Given the description of an element on the screen output the (x, y) to click on. 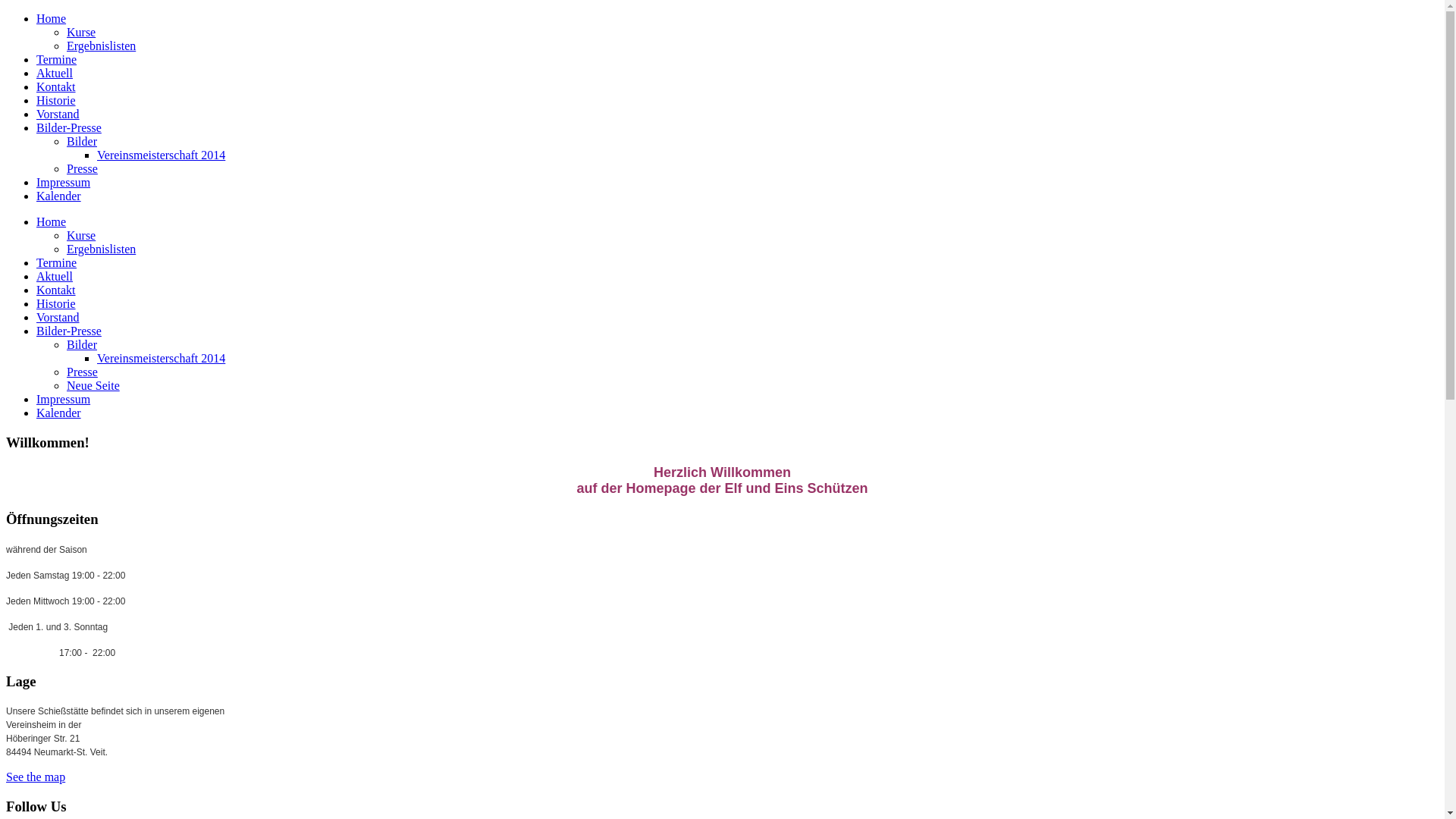
Home Element type: text (50, 18)
Kurse Element type: text (80, 31)
Vorstand Element type: text (57, 113)
Historie Element type: text (55, 100)
Bilder Element type: text (81, 140)
Home Element type: text (50, 221)
See the map Element type: text (35, 776)
Aktuell Element type: text (54, 72)
Vorstand Element type: text (57, 316)
Impressum Element type: text (63, 398)
Neue Seite Element type: text (92, 385)
Bilder Element type: text (81, 344)
Bilder-Presse Element type: text (68, 127)
Kalender Element type: text (58, 412)
Vereinsmeisterschaft 2014 Element type: text (161, 357)
Historie Element type: text (55, 303)
Impressum Element type: text (63, 181)
Ergebnislisten Element type: text (100, 45)
Kontakt Element type: text (55, 86)
Kontakt Element type: text (55, 289)
Kalender Element type: text (58, 195)
Presse Element type: text (81, 168)
Presse Element type: text (81, 371)
Ergebnislisten Element type: text (100, 248)
Aktuell Element type: text (54, 275)
Termine Element type: text (56, 59)
Termine Element type: text (56, 262)
Bilder-Presse Element type: text (68, 330)
Kurse Element type: text (80, 235)
Vereinsmeisterschaft 2014 Element type: text (161, 154)
